Given the description of an element on the screen output the (x, y) to click on. 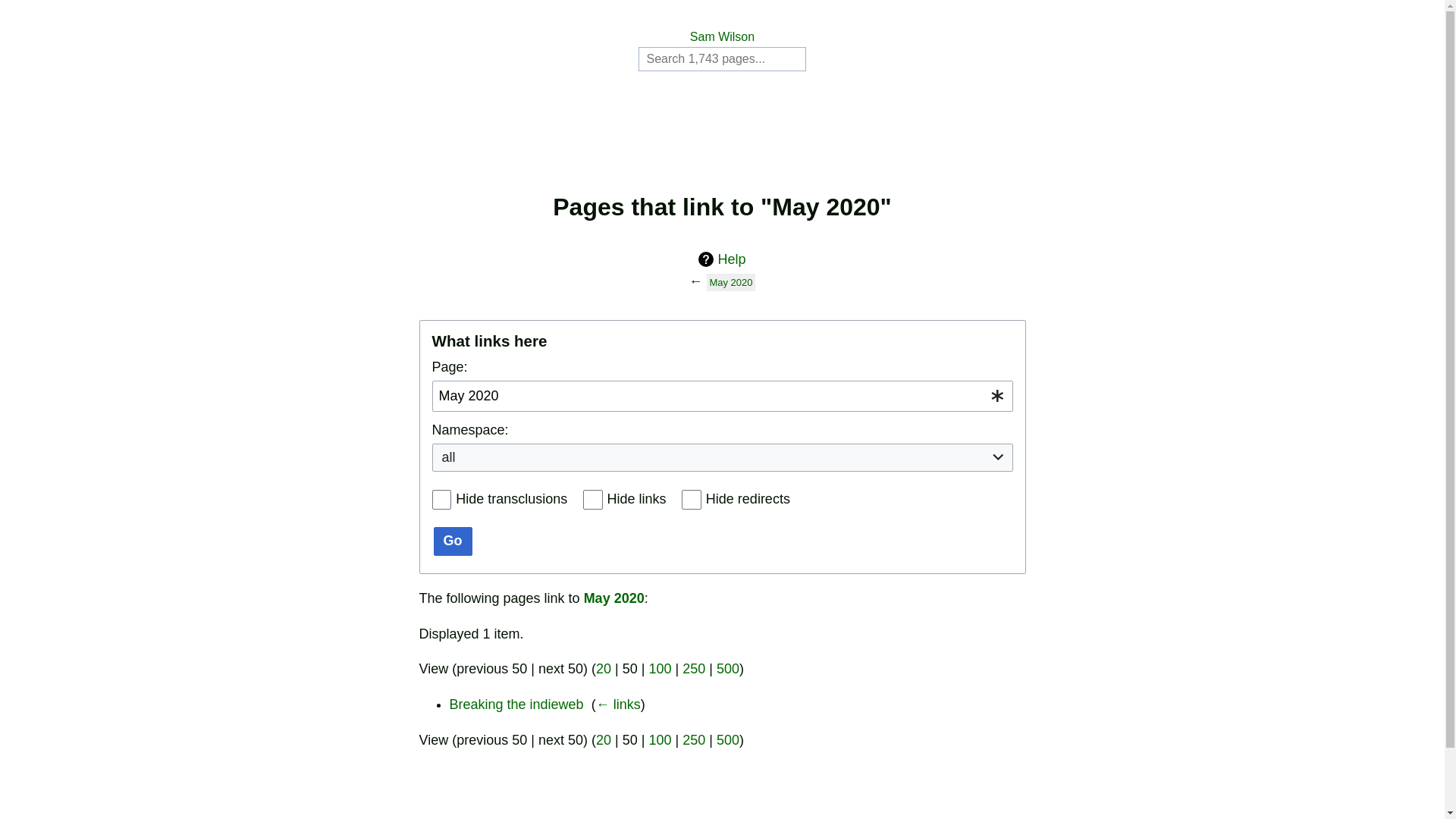
Go Element type: text (452, 541)
May 2020 Element type: text (613, 597)
20 Element type: text (603, 668)
250 Element type: text (693, 668)
Breaking the indieweb Element type: text (515, 704)
Help Element type: text (721, 258)
100 Element type: text (659, 739)
20 Element type: text (603, 739)
500 Element type: text (727, 739)
May 2020 Element type: text (731, 282)
100 Element type: text (659, 668)
Search Sam Wilson [alt-shift-f] Element type: hover (722, 59)
500 Element type: text (727, 668)
250 Element type: text (693, 739)
Sam Wilson Element type: text (722, 36)
